Given the description of an element on the screen output the (x, y) to click on. 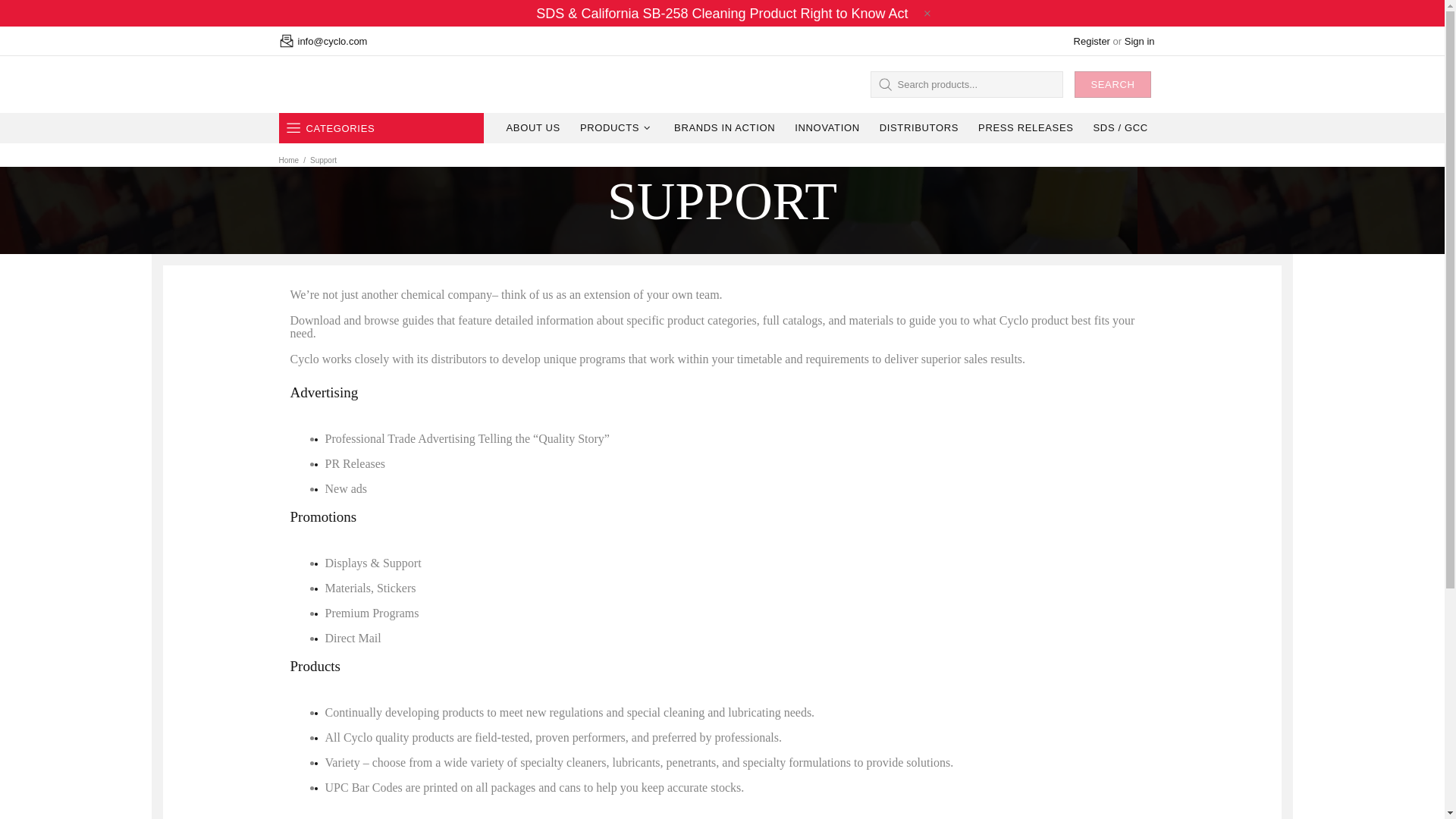
Sign in (1139, 41)
email us (331, 40)
DISTRIBUTORS (918, 128)
Cyclo (307, 83)
Home (288, 160)
Register (1091, 41)
BRANDS IN ACTION (723, 128)
SEARCH (1112, 84)
PRESS RELEASES (1025, 128)
ABOUT US (532, 128)
PRODUCTS (616, 128)
INNOVATION (826, 128)
